Given the description of an element on the screen output the (x, y) to click on. 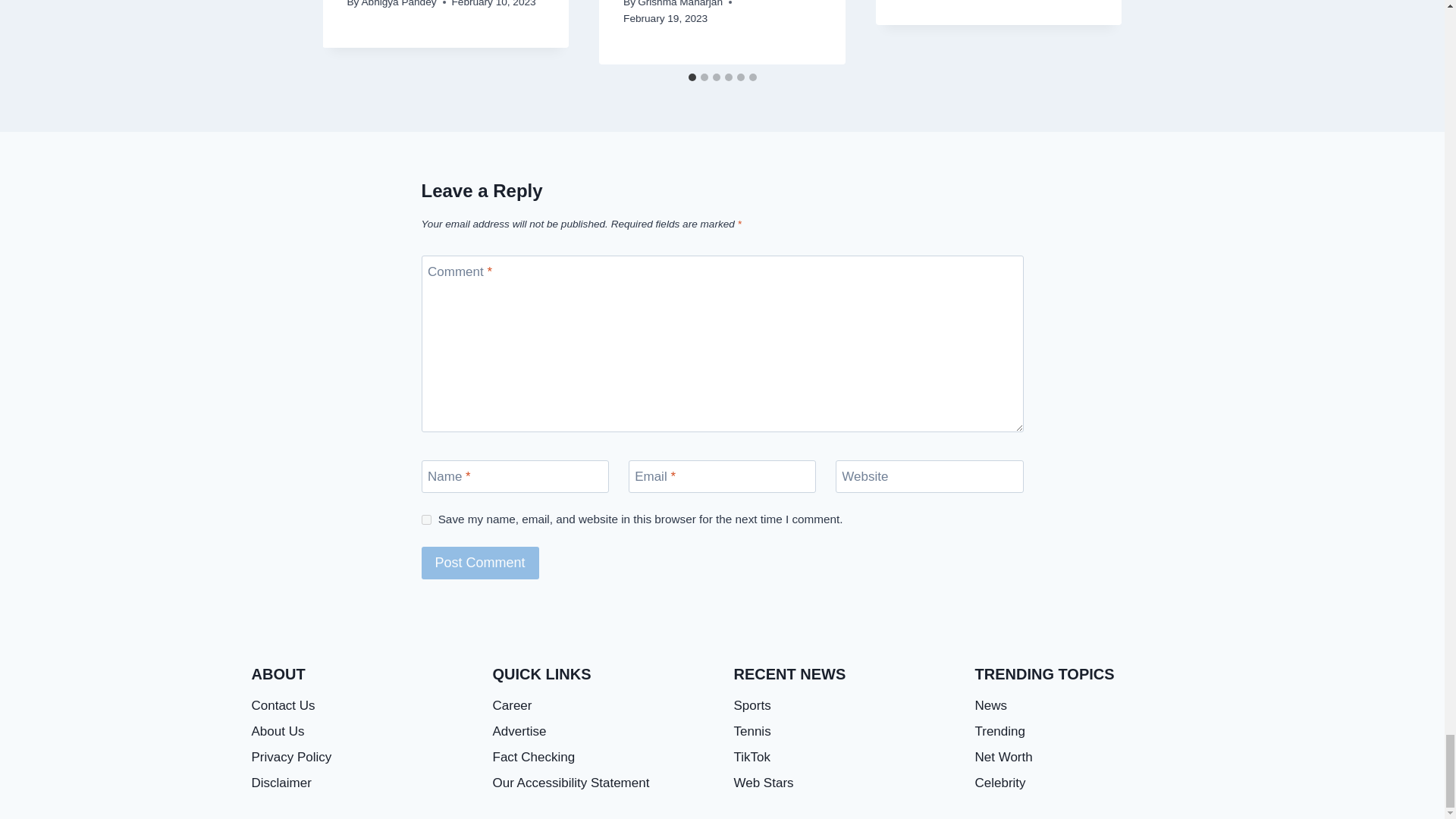
yes (426, 519)
Post Comment (480, 563)
